Given the description of an element on the screen output the (x, y) to click on. 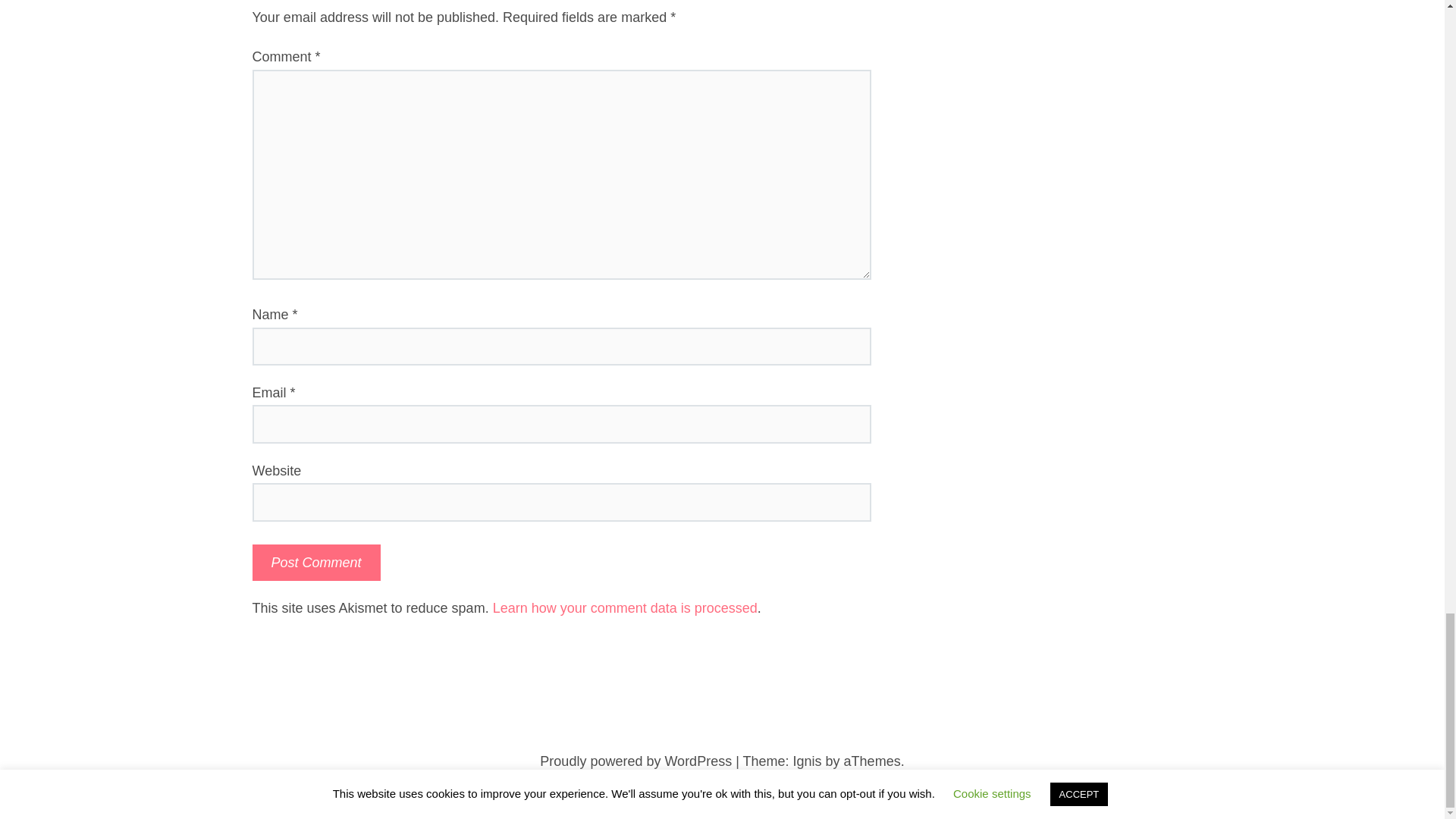
Post Comment (315, 562)
Learn how your comment data is processed (625, 607)
Post Comment (315, 562)
